Given the description of an element on the screen output the (x, y) to click on. 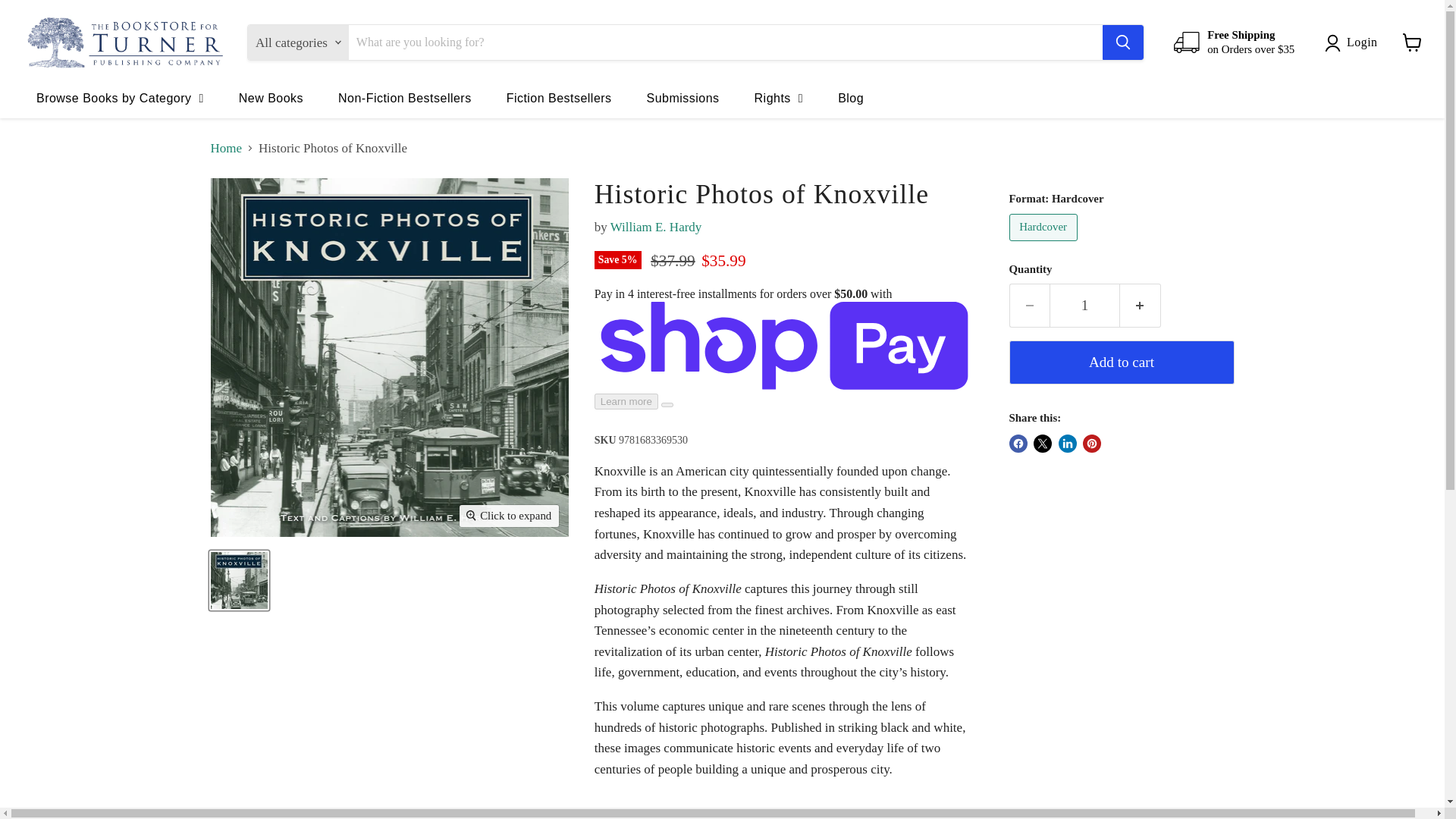
Browse Books by Category (119, 97)
1 (1084, 305)
View cart (1411, 41)
Browse Books by Category (119, 97)
Login (1354, 42)
